Given the description of an element on the screen output the (x, y) to click on. 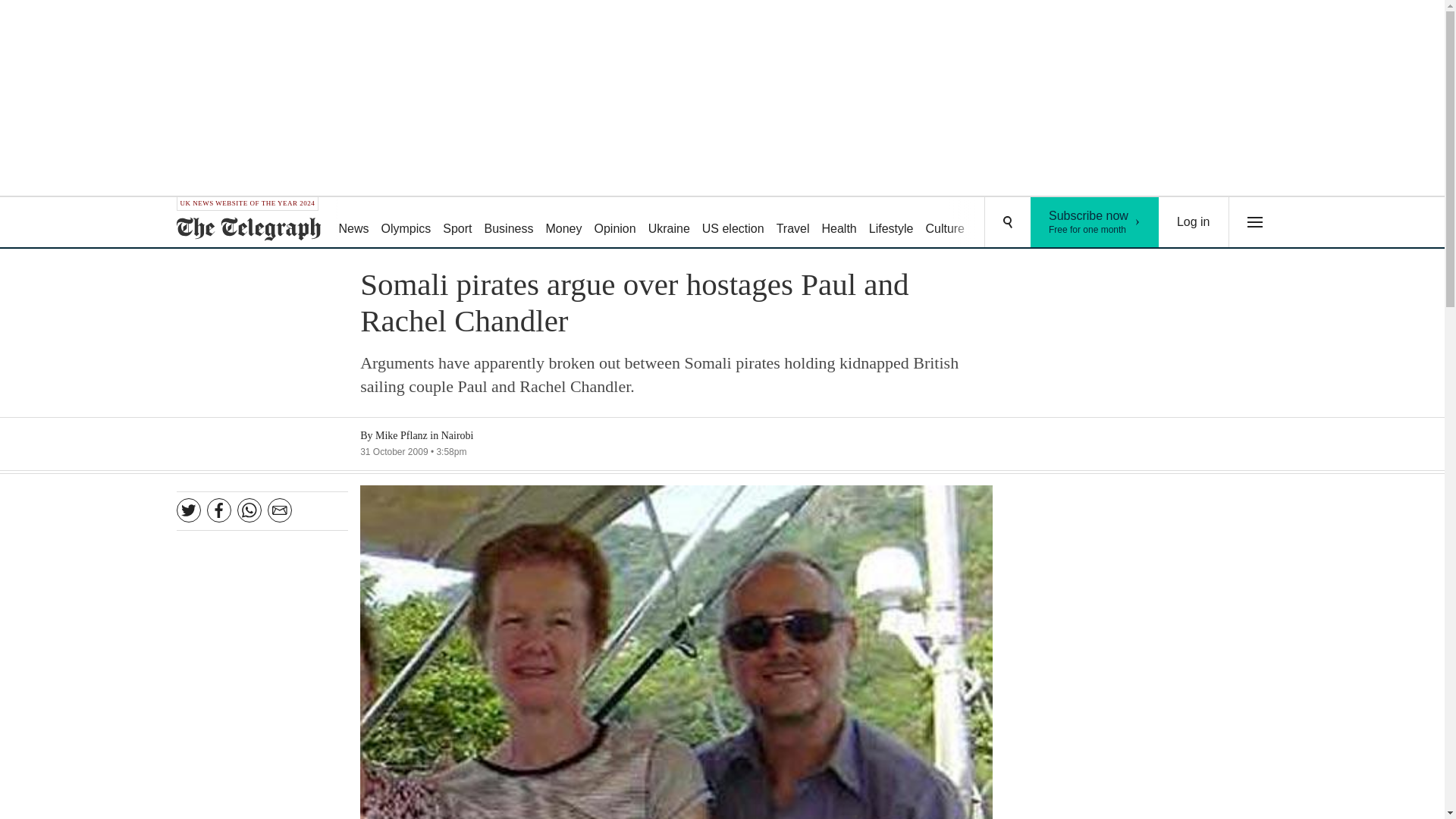
US election (732, 223)
Money (563, 223)
Ukraine (668, 223)
Travel (792, 223)
Olympics (406, 223)
Lifestyle (891, 223)
Culture (944, 223)
Log in (1193, 222)
Opinion (615, 223)
Puzzles (998, 223)
Health (838, 223)
Podcasts (1056, 223)
Business (509, 223)
